Given the description of an element on the screen output the (x, y) to click on. 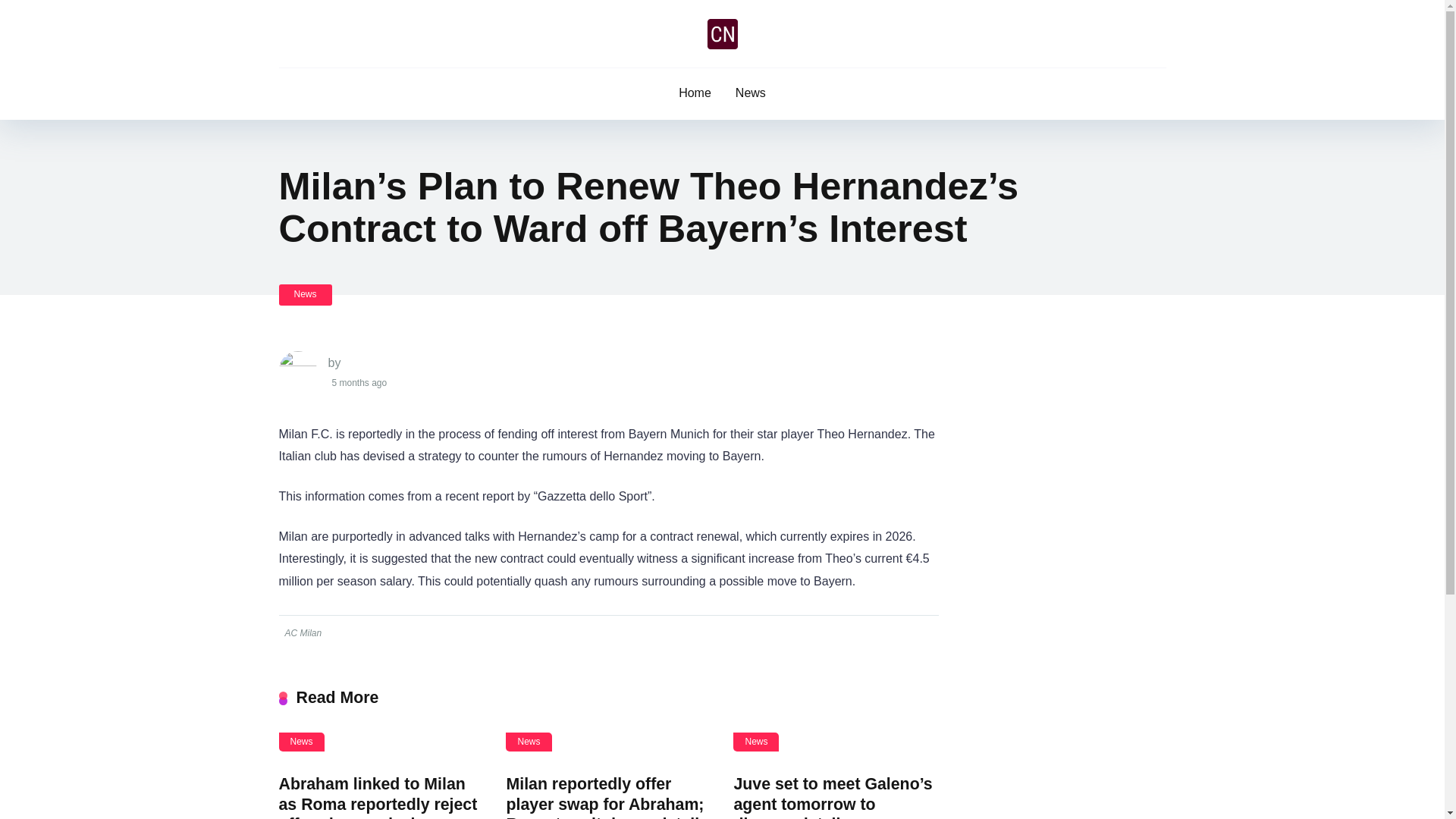
News (755, 741)
News (305, 294)
Calcio News (721, 33)
News (528, 741)
News (301, 741)
Home (694, 93)
News (750, 93)
